Given the description of an element on the screen output the (x, y) to click on. 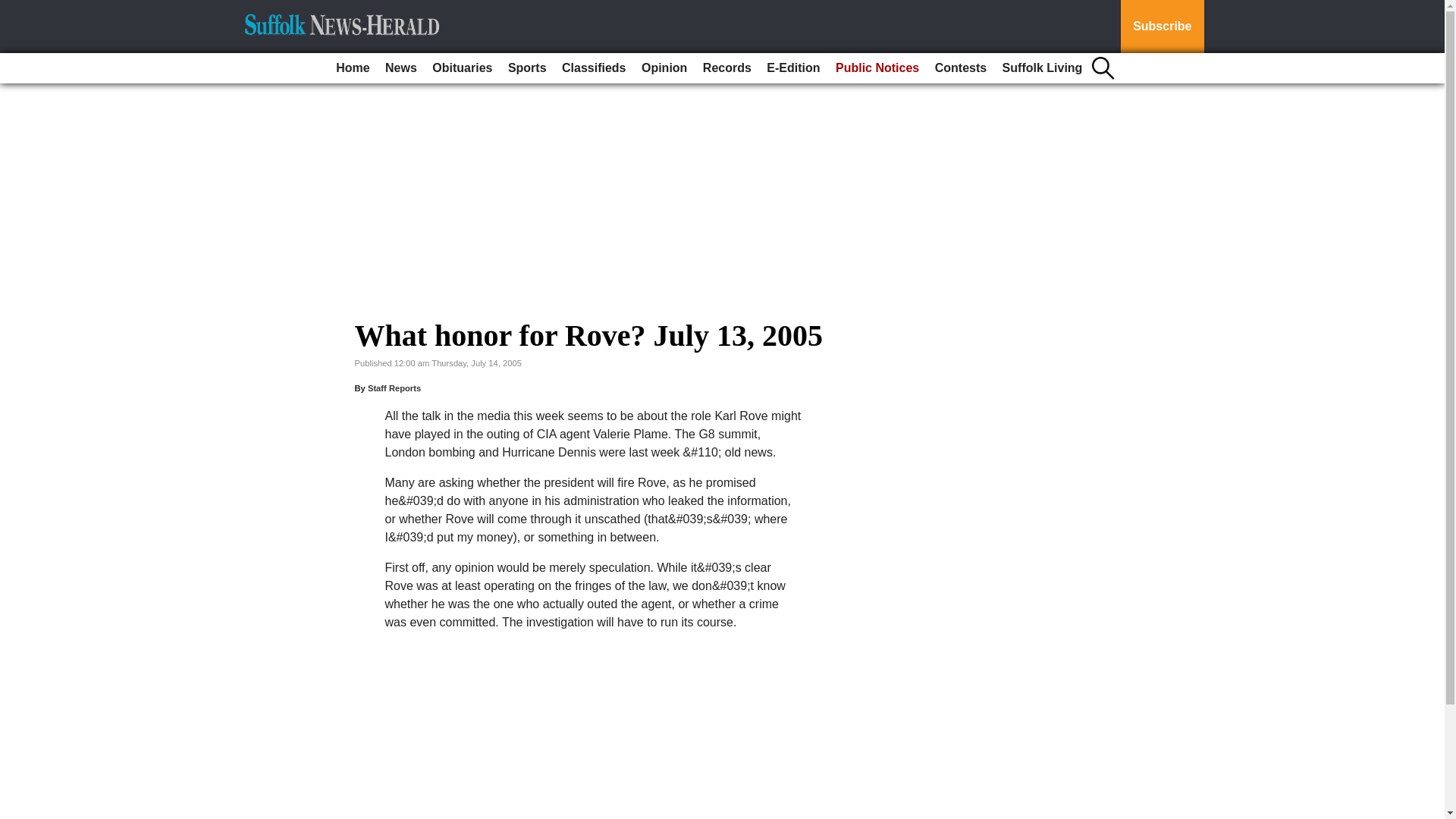
Obituaries (461, 68)
News (400, 68)
Home (352, 68)
Subscribe (1162, 26)
Records (727, 68)
Classifieds (593, 68)
Go (13, 9)
Opinion (663, 68)
Suffolk Living (1042, 68)
Sports (527, 68)
E-Edition (792, 68)
Contests (960, 68)
Public Notices (876, 68)
Staff Reports (394, 388)
